Given the description of an element on the screen output the (x, y) to click on. 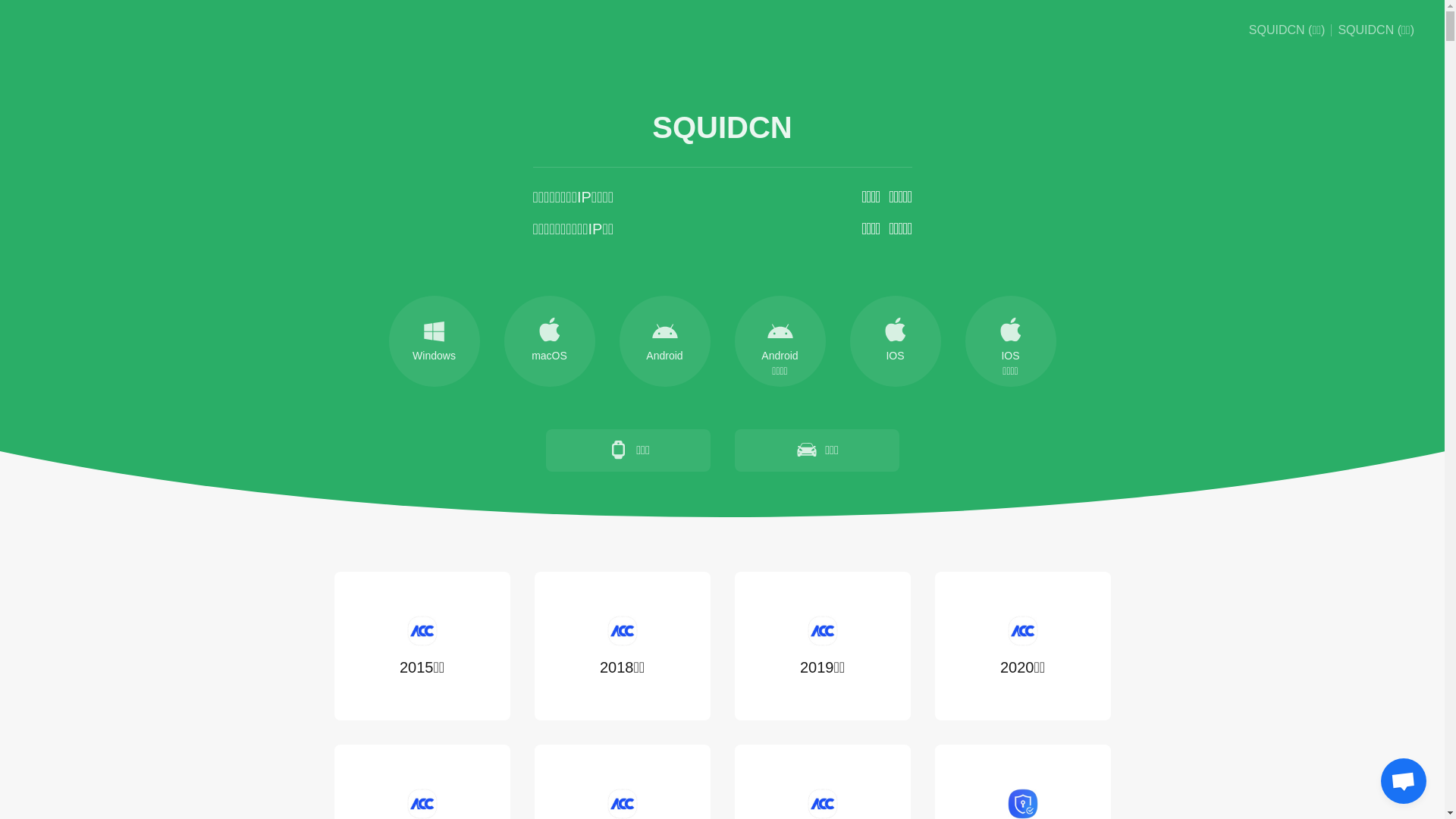
Windows Element type: text (433, 340)
IOS Element type: text (894, 340)
Android Element type: text (663, 340)
macOS Element type: text (548, 340)
